Given the description of an element on the screen output the (x, y) to click on. 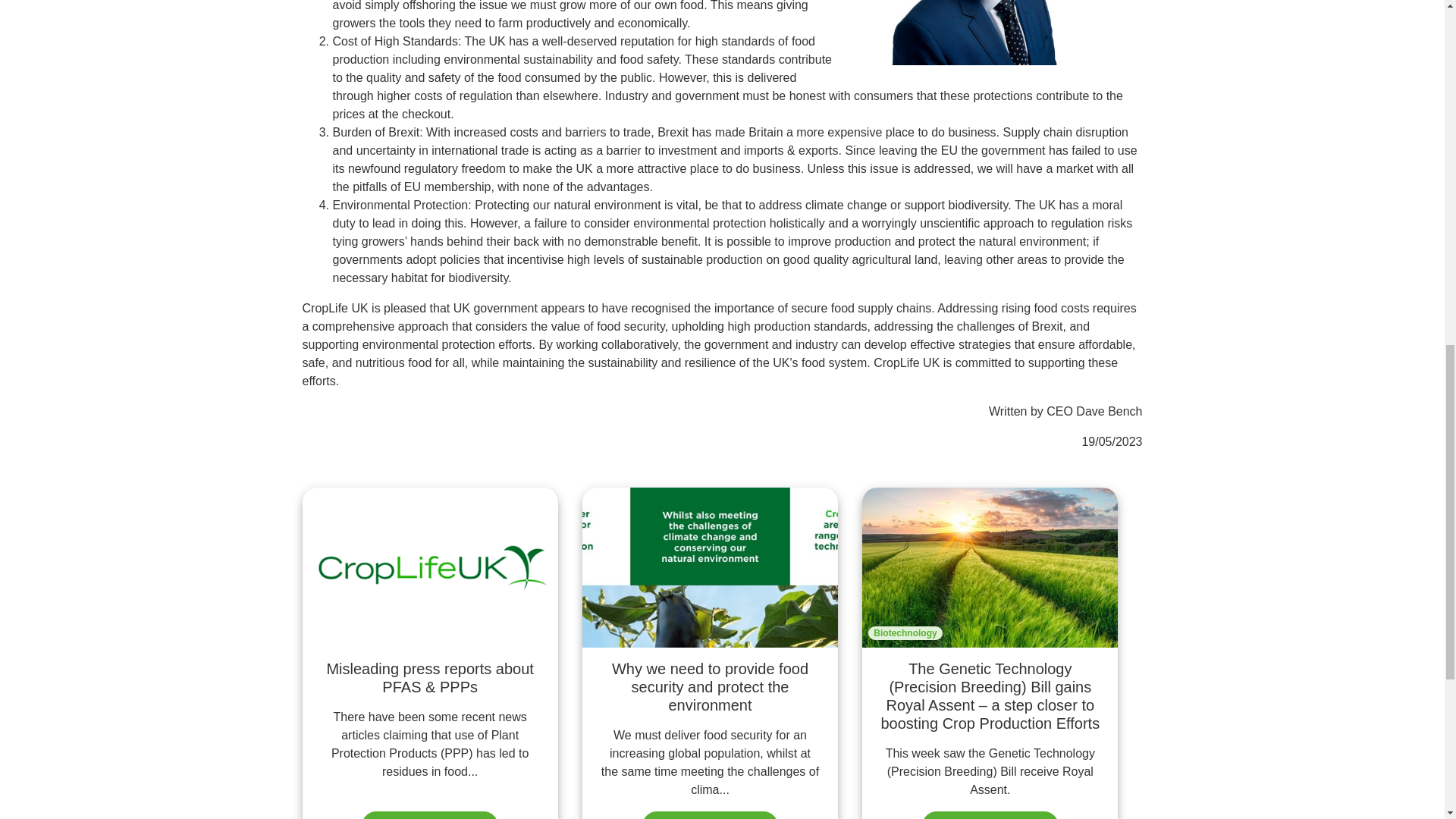
Read More (710, 815)
Biotechnology (904, 632)
Read More (429, 815)
